Given the description of an element on the screen output the (x, y) to click on. 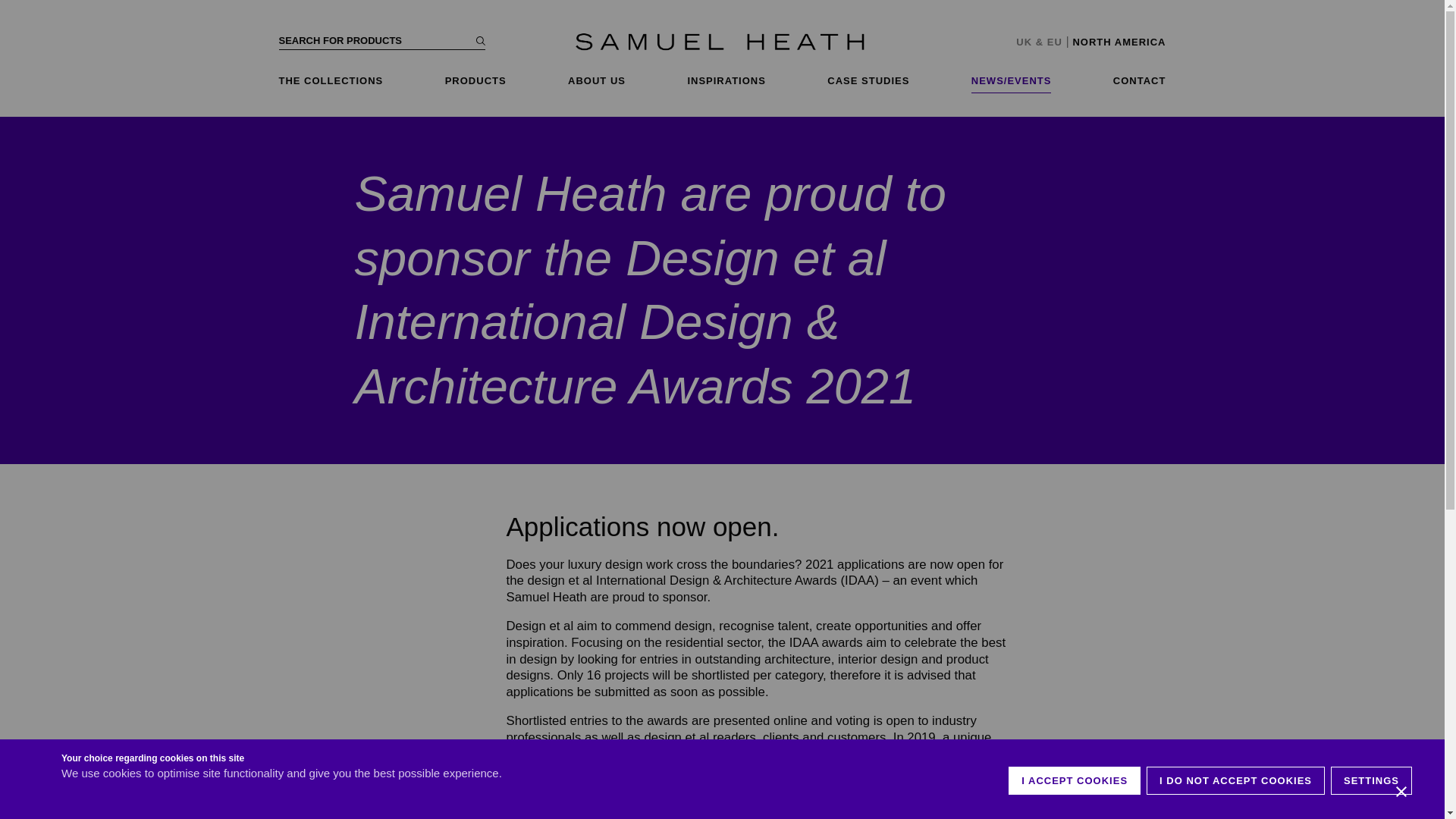
SETTINGS (1371, 812)
I DO NOT ACCEPT COOKIES (1235, 816)
North American website (1118, 41)
United Kingdom (1024, 41)
Europe (1054, 41)
